Given the description of an element on the screen output the (x, y) to click on. 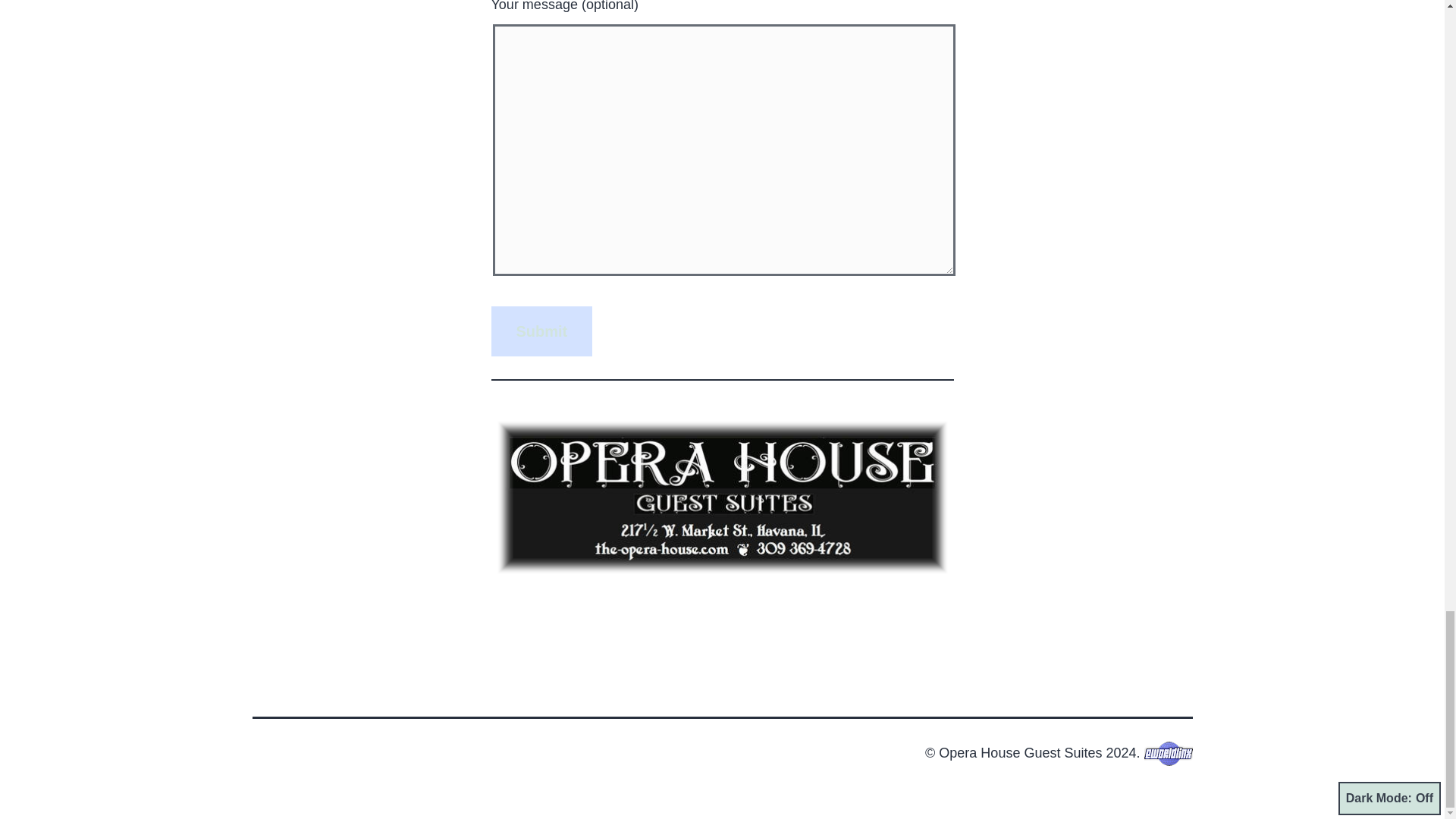
Submit (542, 331)
Submit (542, 331)
